Given the description of an element on the screen output the (x, y) to click on. 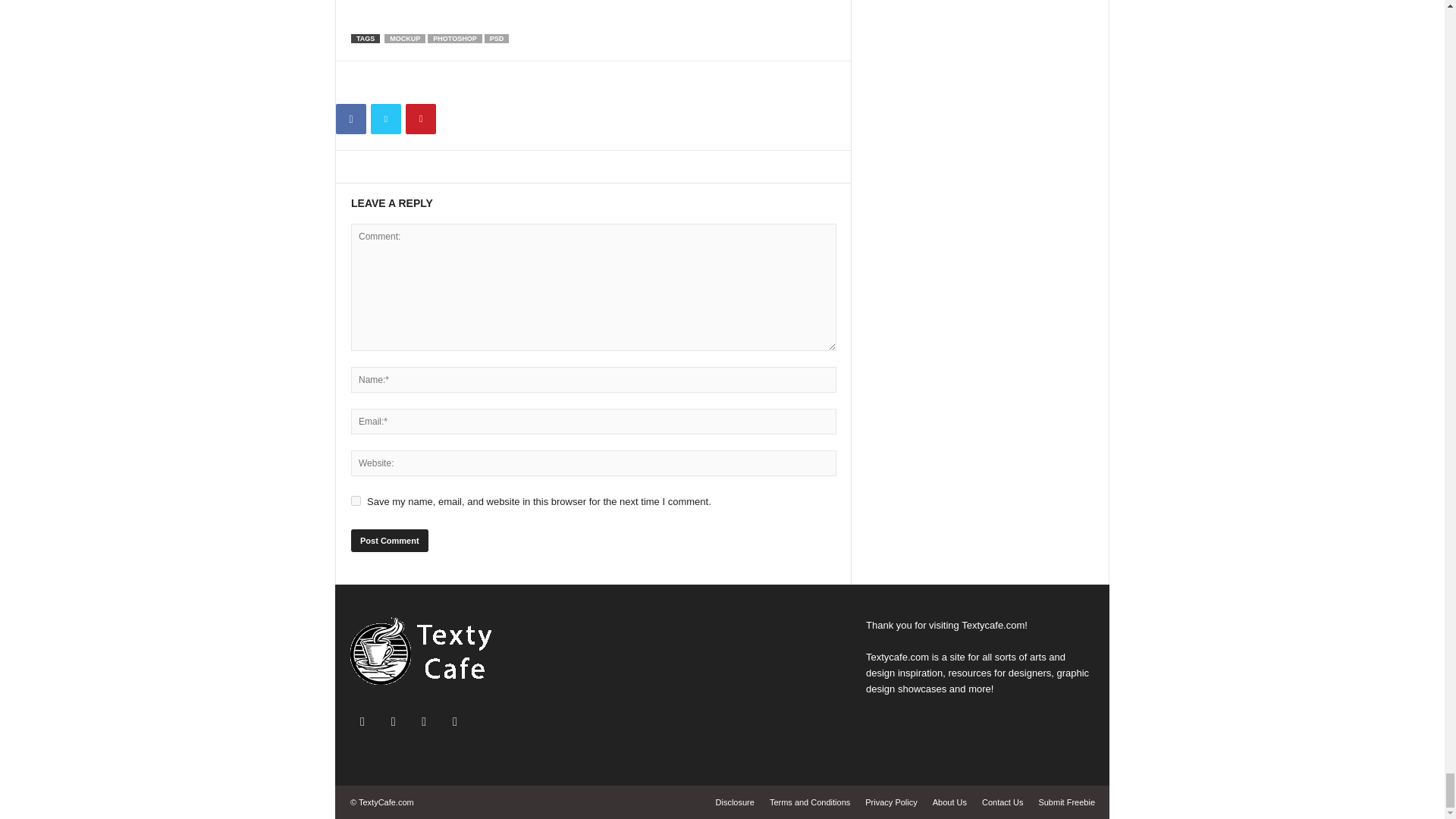
Pinterest (420, 119)
Post Comment (389, 540)
yes (355, 501)
Facebook (351, 119)
Twitter (386, 119)
